Given the description of an element on the screen output the (x, y) to click on. 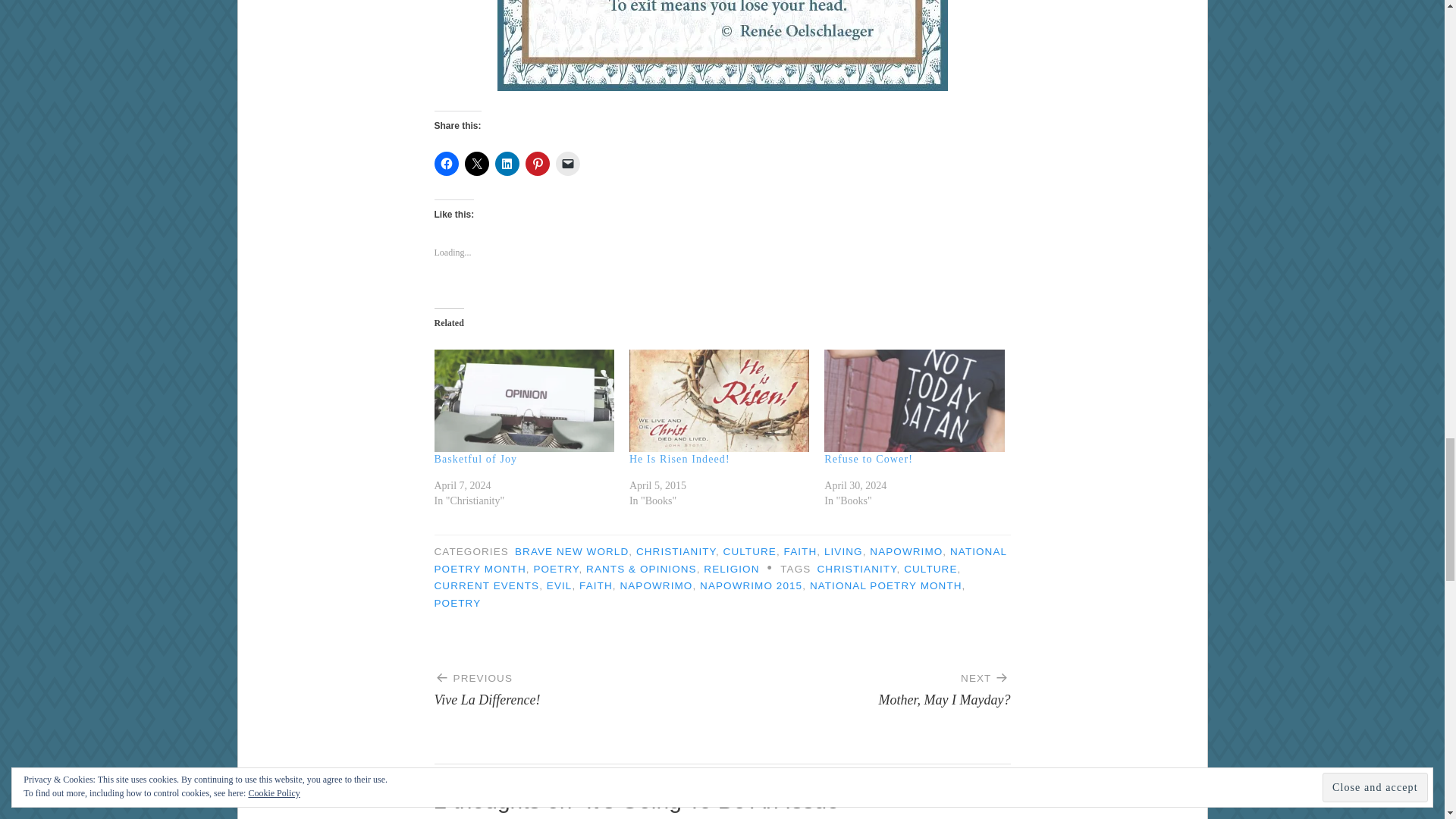
Refuse to Cower! (914, 400)
Basketful of Joy (474, 459)
Click to email a link to a friend (566, 163)
Refuse to Cower! (868, 459)
Click to share on LinkedIn (506, 163)
He Is Risen Indeed! (718, 400)
Click to share on Facebook (445, 163)
He Is Risen Indeed! (679, 459)
Click to share on Pinterest (536, 163)
Click to share on X (475, 163)
